Given the description of an element on the screen output the (x, y) to click on. 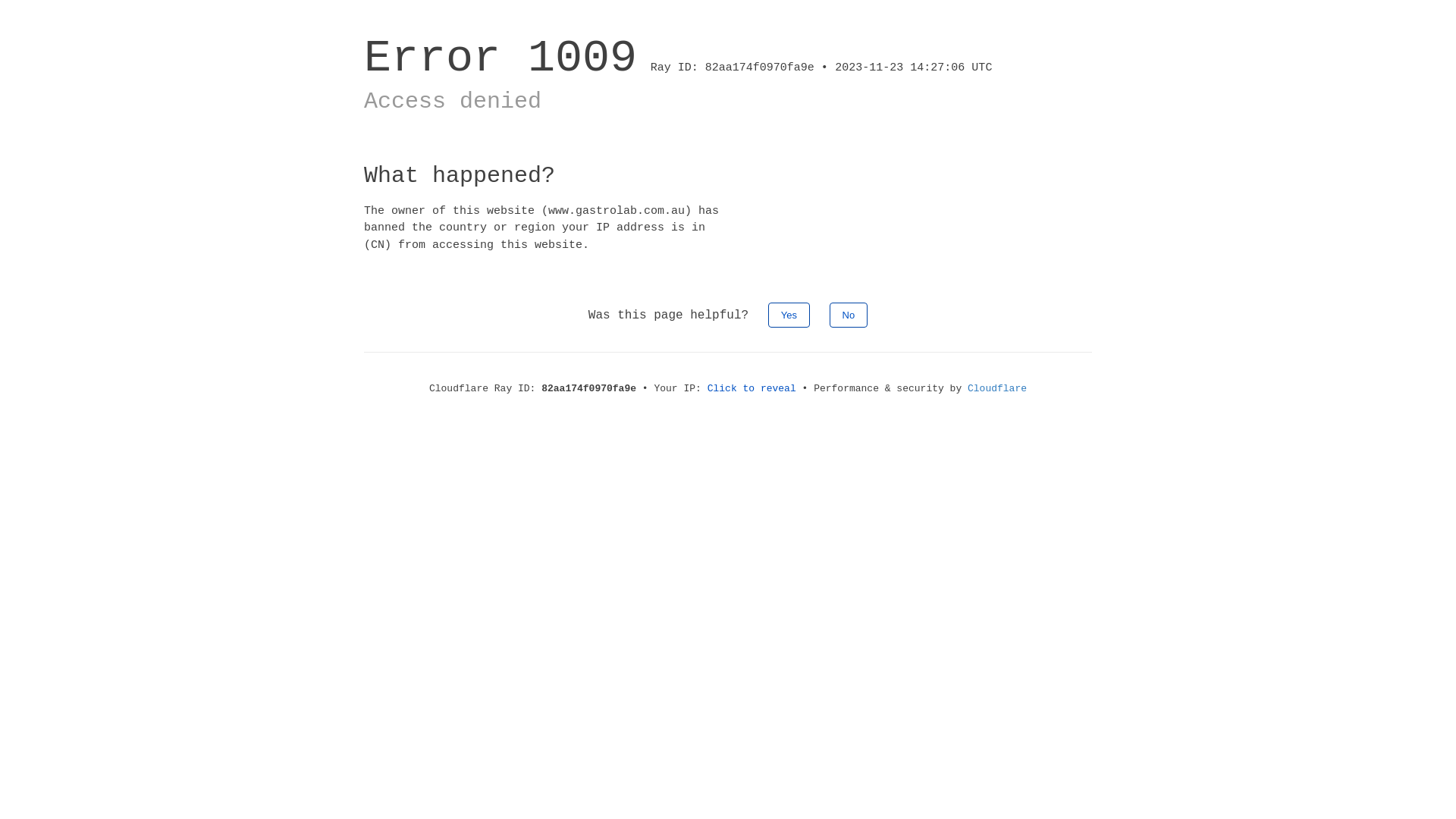
Cloudflare Element type: text (996, 388)
Click to reveal Element type: text (751, 388)
No Element type: text (848, 314)
Yes Element type: text (788, 314)
